Given the description of an element on the screen output the (x, y) to click on. 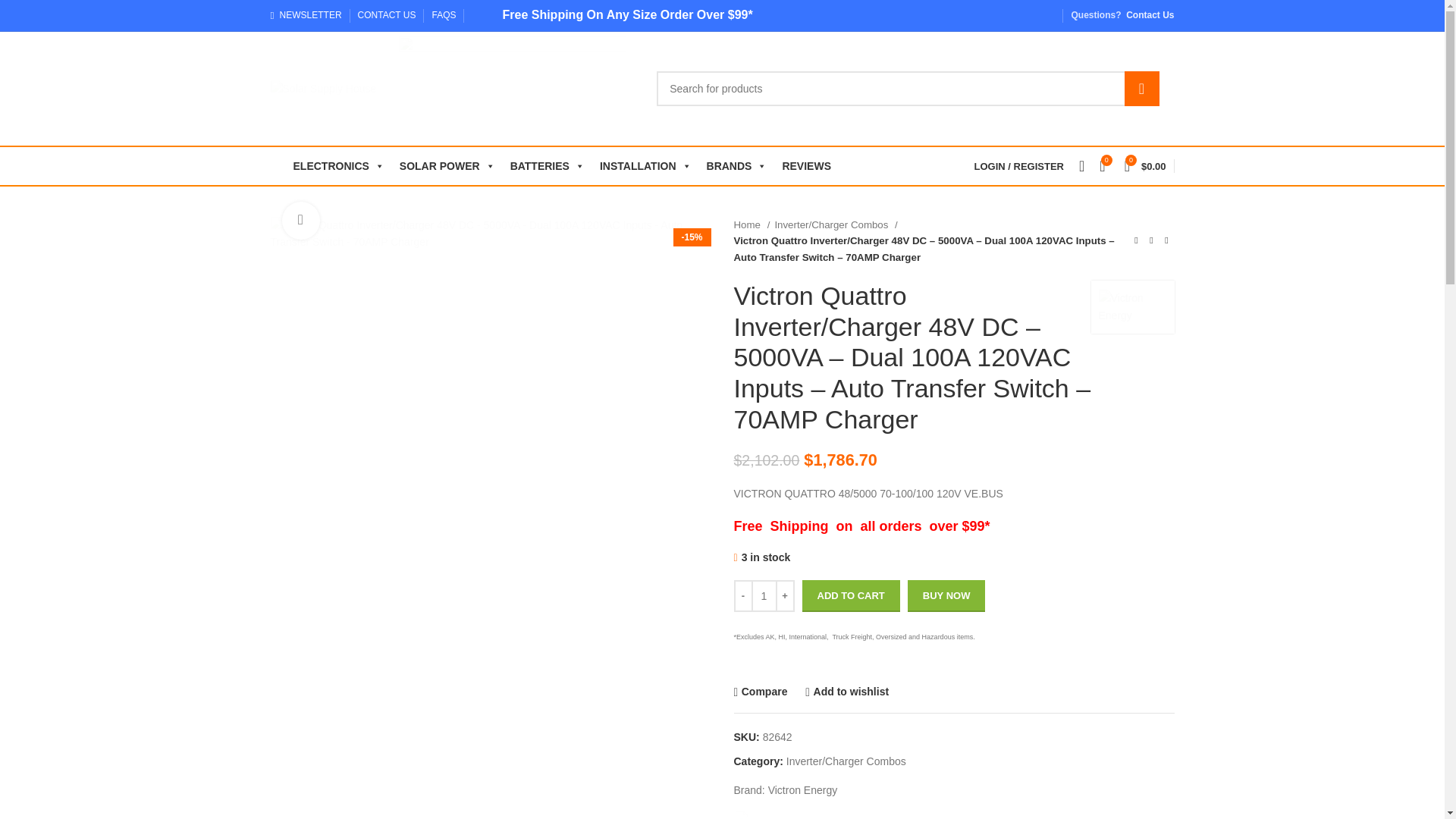
NEWSLETTER (304, 15)
Shopping cart (1144, 165)
SEARCH (1141, 88)
Contact Us (1149, 14)
CONTACT US (387, 15)
ELECTRONICS (338, 166)
INSTALLATION (645, 166)
SOLAR POWER (446, 166)
BATTERIES (547, 166)
Victron Energy (1131, 306)
Search for products (907, 88)
My account (1018, 165)
